Given the description of an element on the screen output the (x, y) to click on. 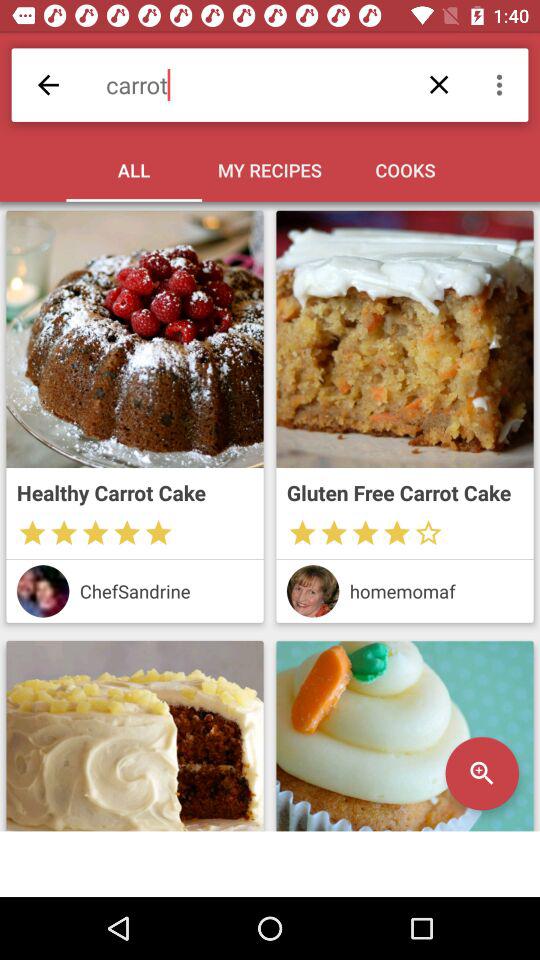
tap the chefsandrine icon (166, 590)
